Given the description of an element on the screen output the (x, y) to click on. 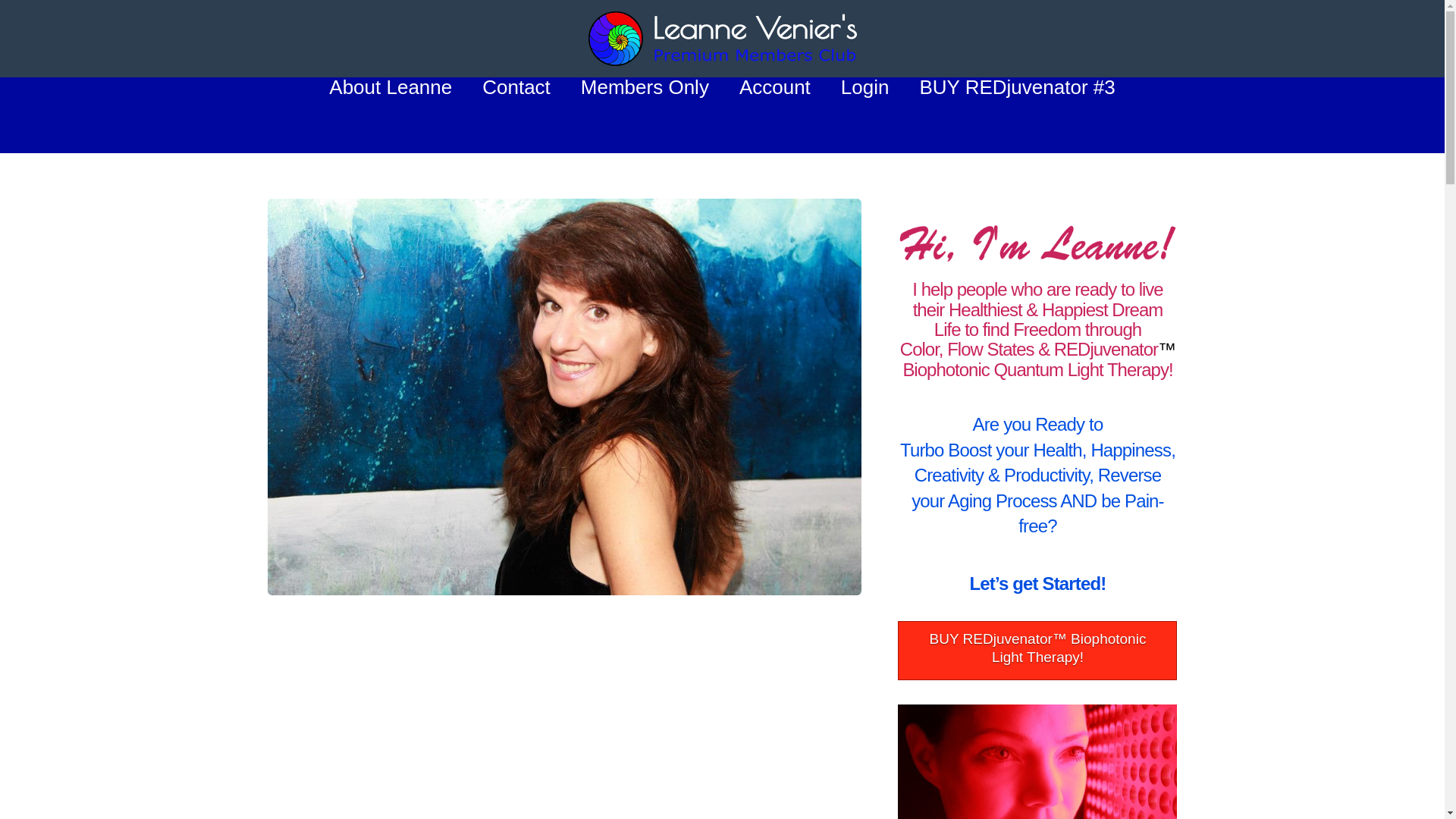
Account (774, 114)
Learn about Leanne's Creative Flow Training Programs (1037, 650)
Members Only (644, 114)
Contact (516, 114)
Login (864, 114)
About Leanne (390, 114)
